Given the description of an element on the screen output the (x, y) to click on. 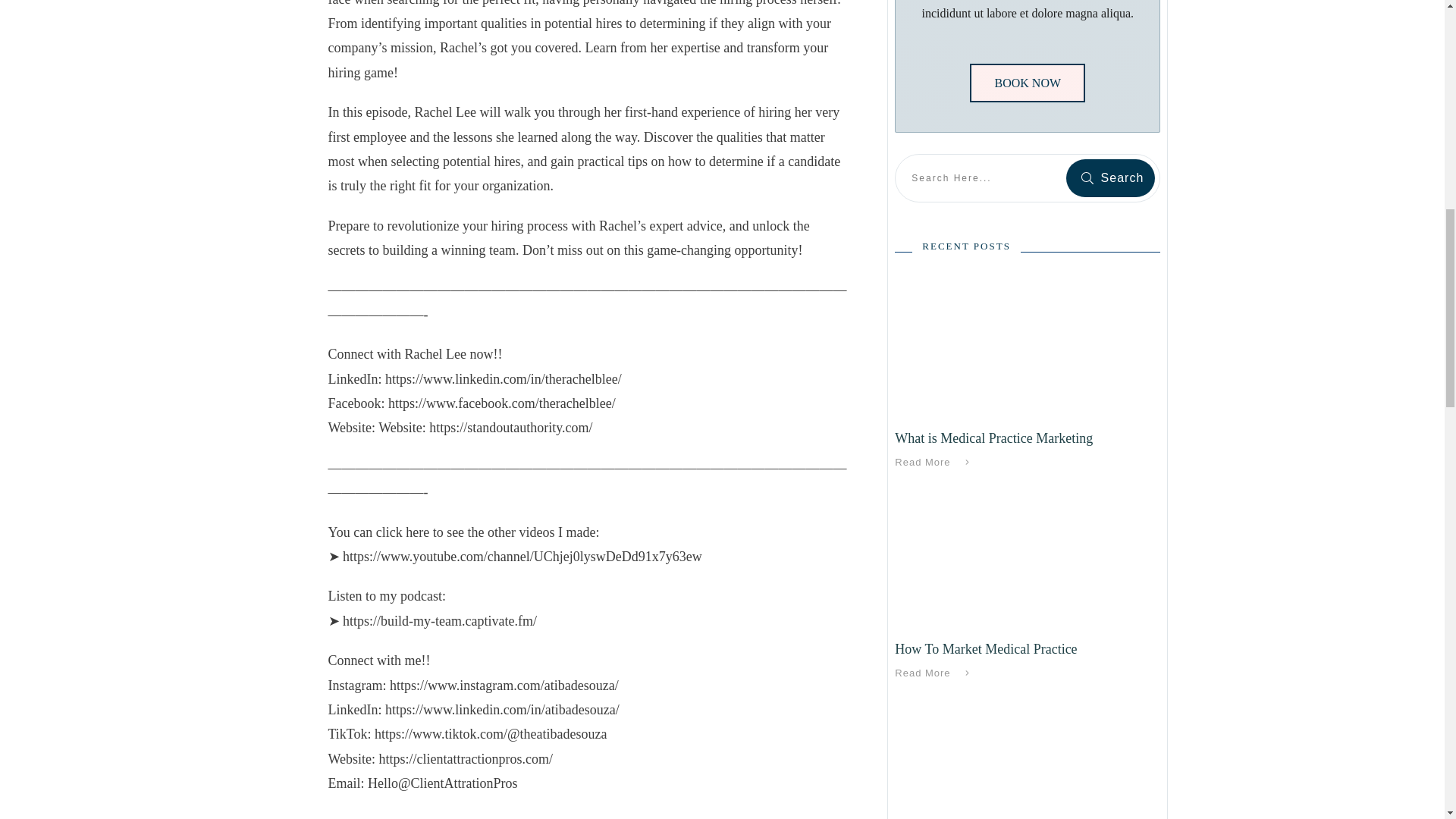
BOOK NOW (1026, 82)
How To Market Medical Practice (986, 648)
What is Medical Practice Marketing (994, 437)
How To Market Medical Practice (986, 648)
Read More (935, 672)
What is Medical Practice Marketing (994, 437)
Search (1110, 177)
Read More (935, 462)
